Given the description of an element on the screen output the (x, y) to click on. 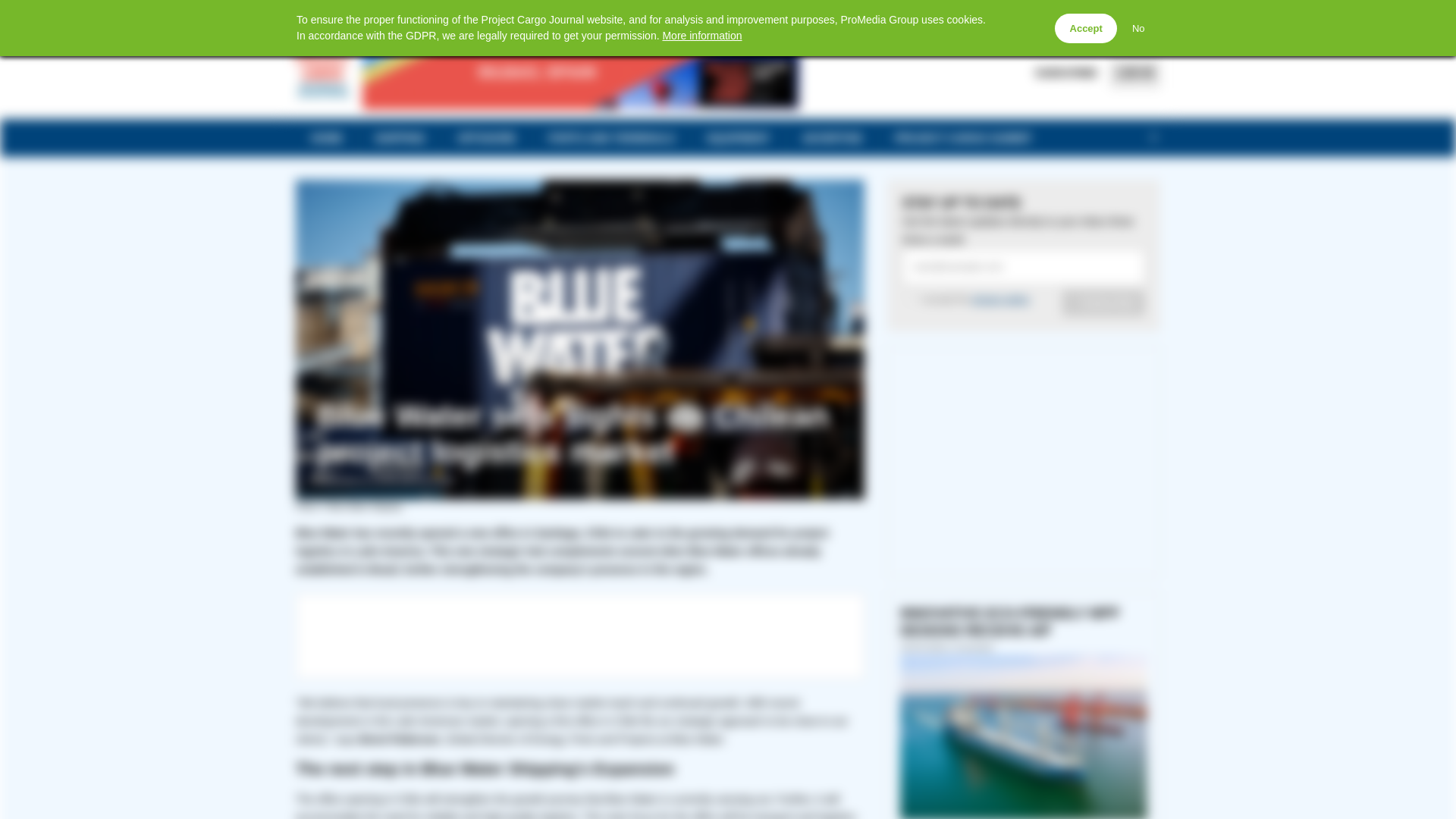
LOG IN (1134, 73)
RailTech.com (698, 12)
Bulk Materials International (914, 12)
EQUIPMENT (738, 137)
Project Cargo Summit (790, 12)
HOME (326, 137)
ProMedia Group (1120, 12)
Home (303, 13)
Facebook (325, 13)
PORTS AND TERMINALS (611, 137)
OFFSHORE (486, 137)
LinkedIn (389, 13)
yes (910, 297)
WorldCargo News (1031, 12)
RailFreight.com (620, 12)
